Given the description of an element on the screen output the (x, y) to click on. 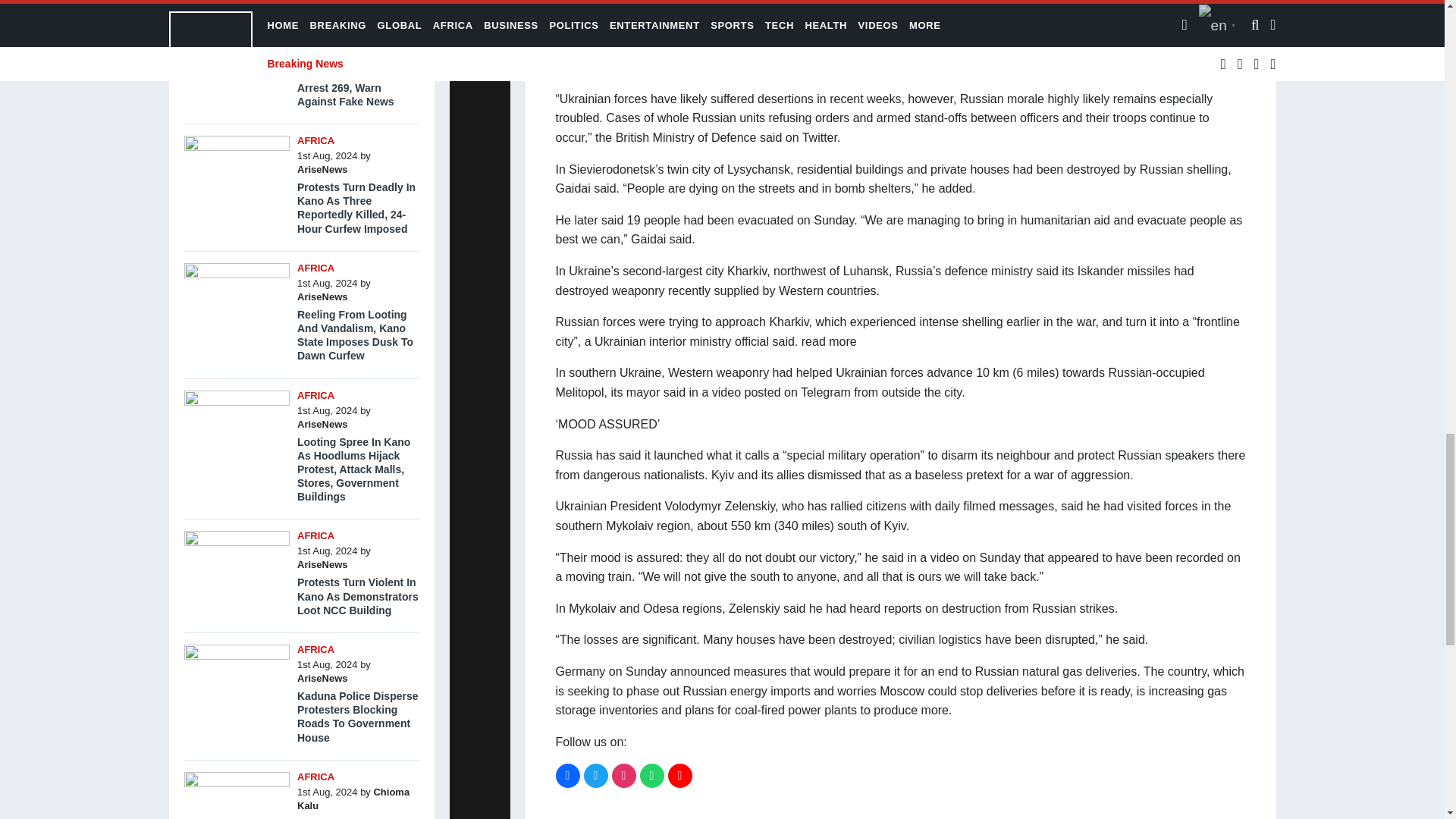
Facebook (566, 775)
Twitter (595, 775)
Instagram (622, 775)
WhatsApp (651, 775)
